Given the description of an element on the screen output the (x, y) to click on. 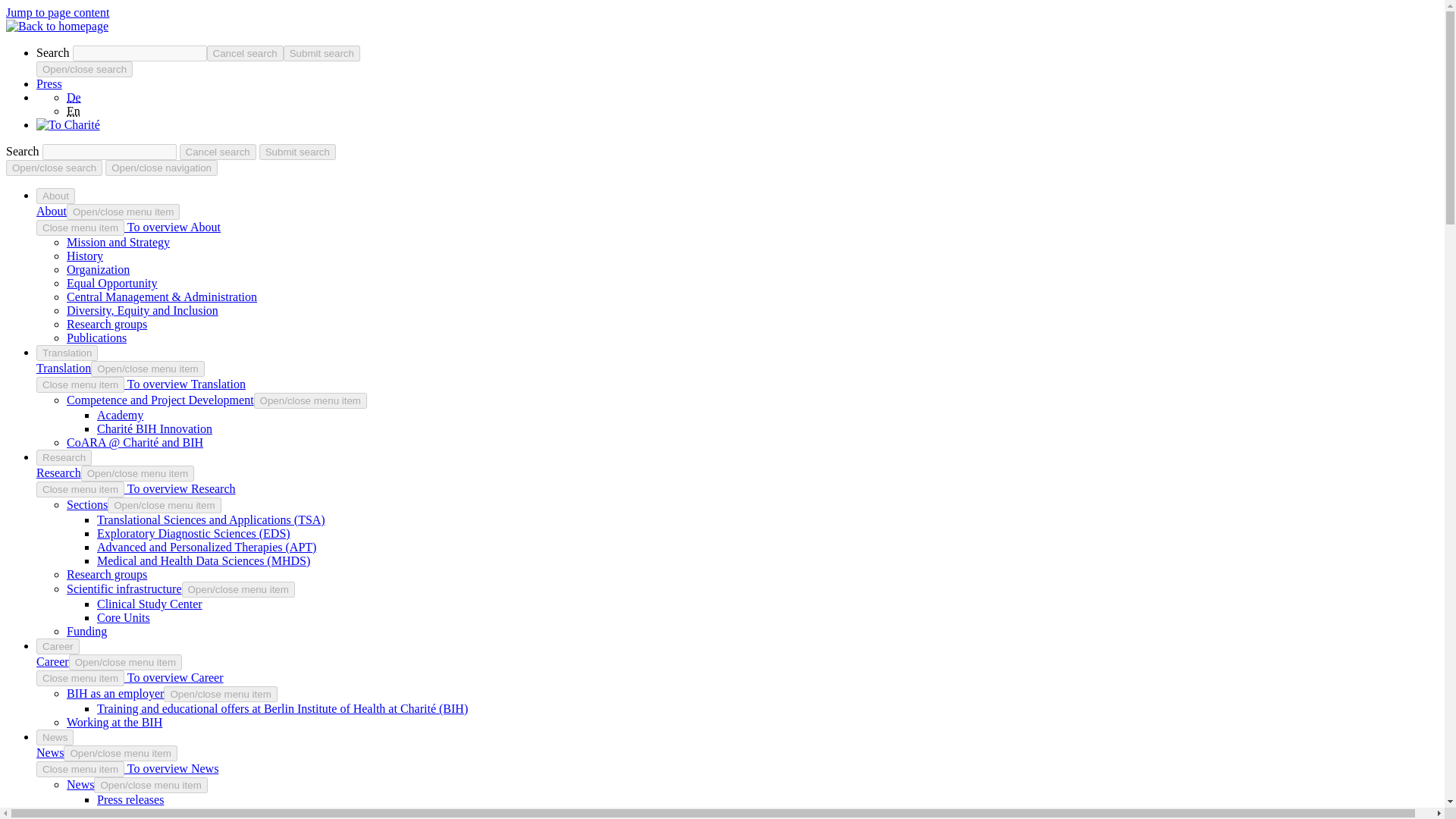
Translation (63, 367)
Close menu item (79, 384)
Research groups (106, 323)
Mission and Strategy (118, 241)
Publications (96, 337)
Equal Opportunity (111, 282)
To overview Translation (184, 383)
Translation (66, 352)
History (84, 255)
Close menu item (79, 489)
Organization (97, 269)
To overview Research (179, 488)
About (55, 195)
To overview About (172, 226)
Submit search (321, 53)
